Given the description of an element on the screen output the (x, y) to click on. 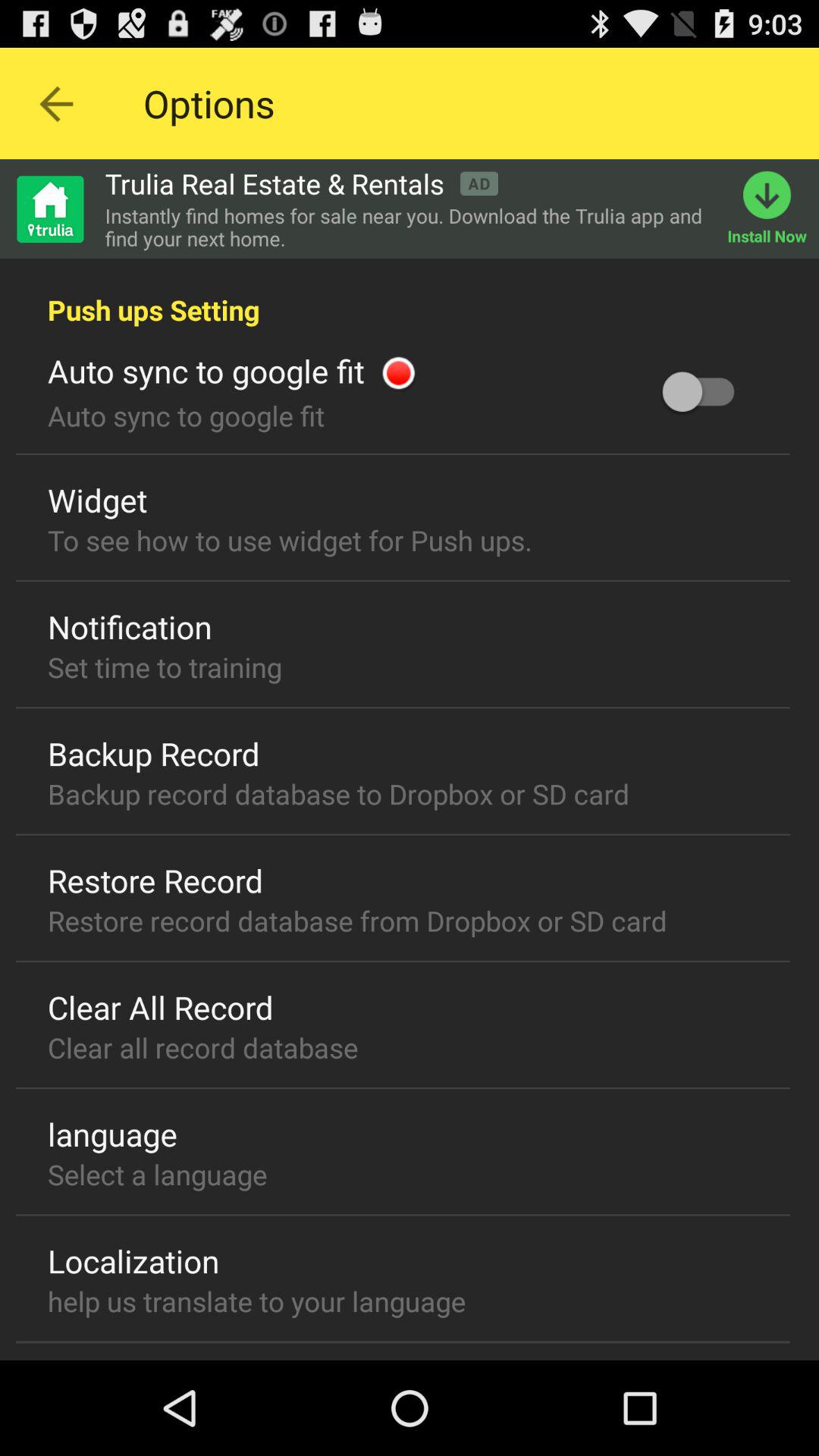
home page (49, 208)
